Given the description of an element on the screen output the (x, y) to click on. 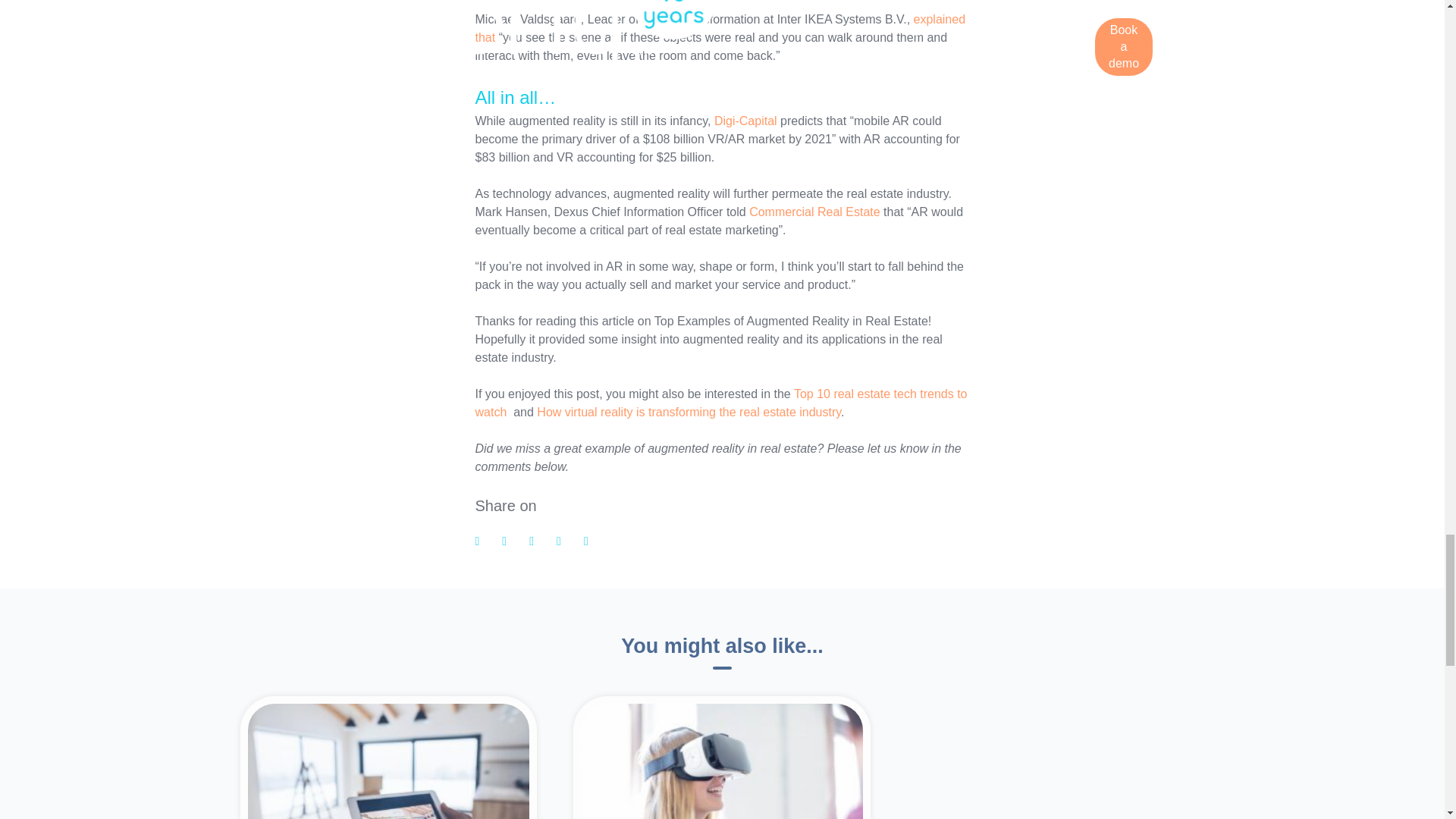
How virtual reality is transforming the real estate industry (689, 411)
explained that (719, 28)
Commercial Real Estate (814, 211)
Digi-Capital (745, 120)
Top 10 real estate tech trends to watch (720, 402)
